Given the description of an element on the screen output the (x, y) to click on. 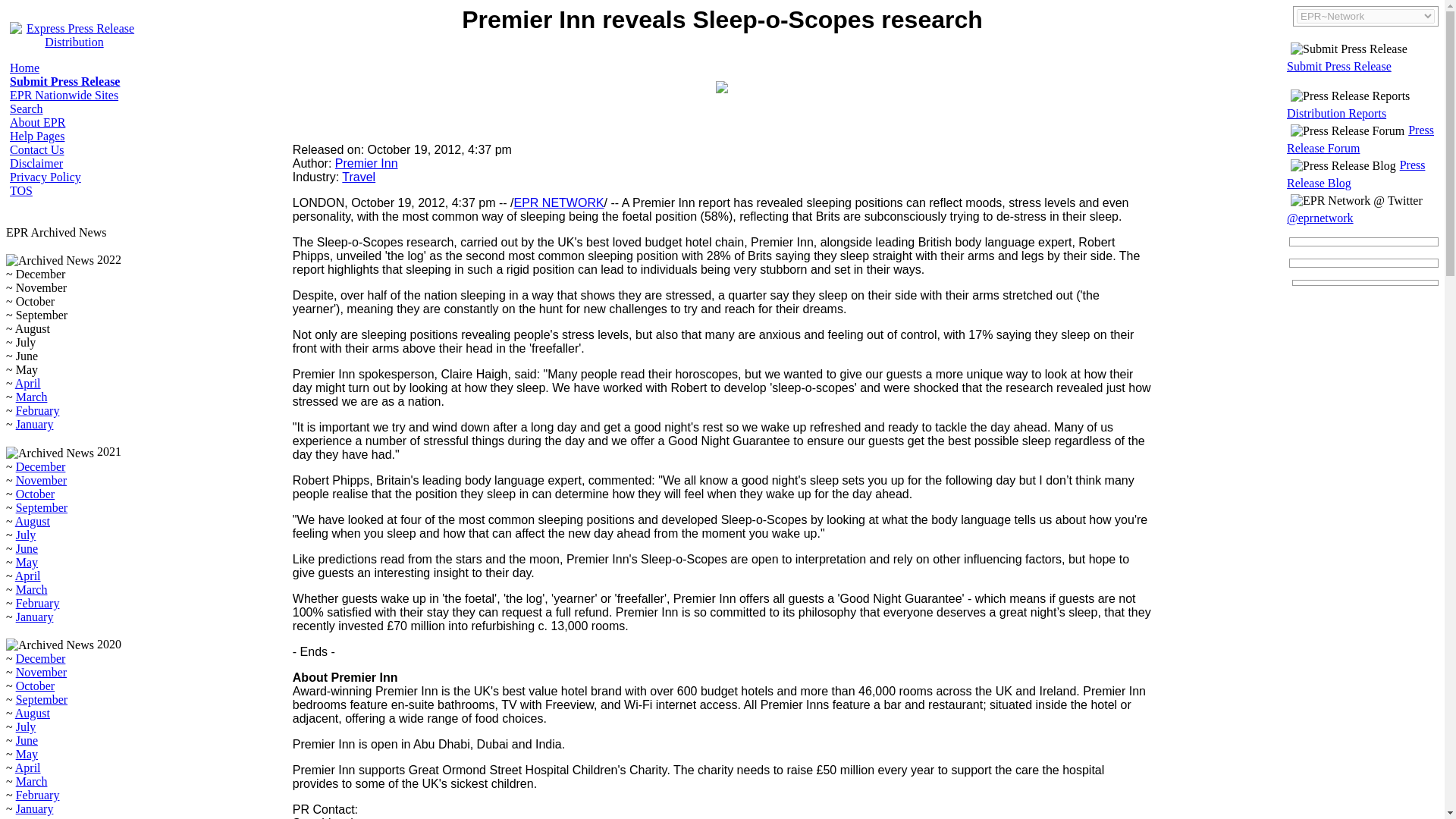
Search (26, 108)
March (32, 589)
May (26, 562)
September (41, 507)
February (37, 603)
Help Pages (37, 135)
EPR Nationwide Sites (63, 94)
December (40, 658)
October (35, 493)
September (41, 698)
